Given the description of an element on the screen output the (x, y) to click on. 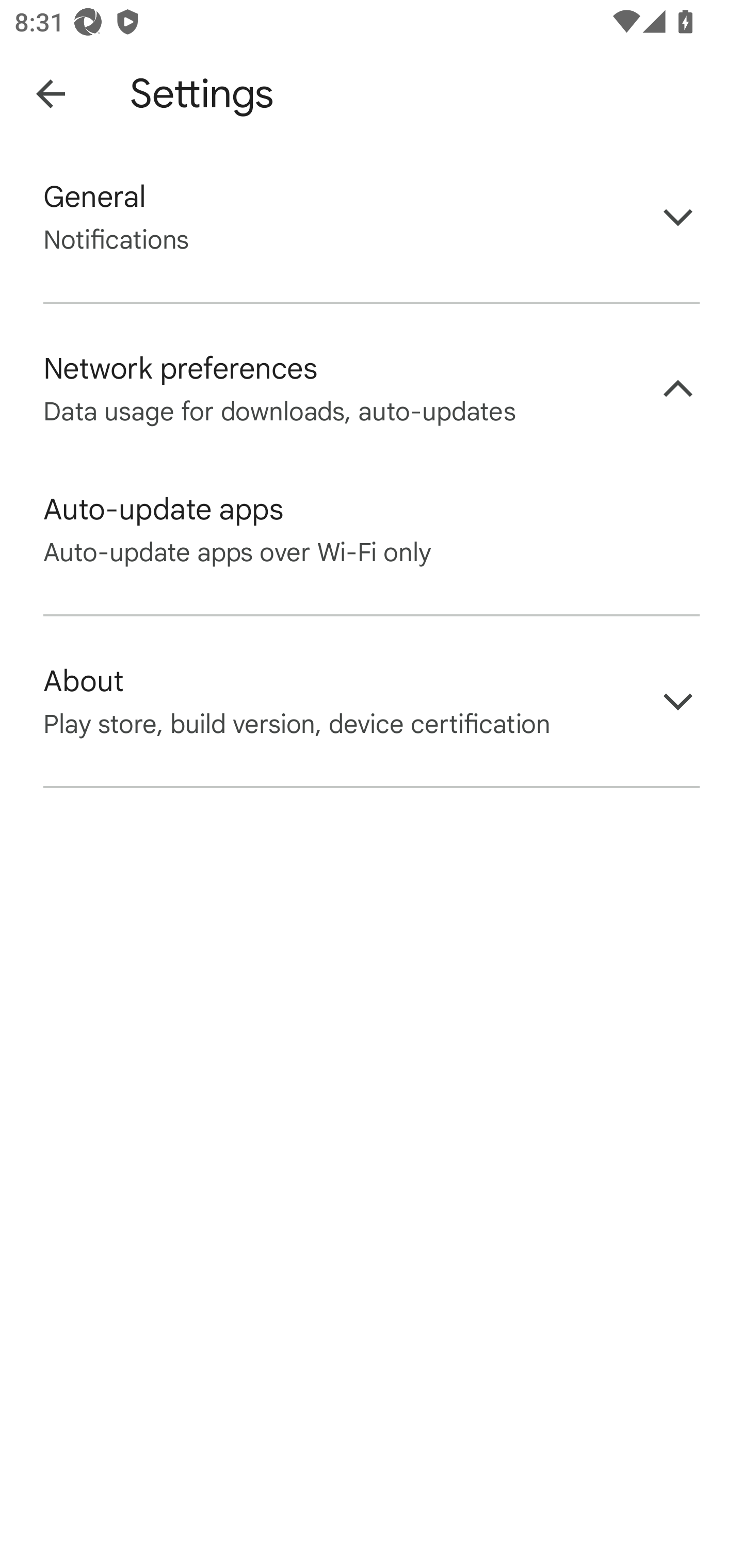
Navigate up (50, 93)
Auto-update apps Auto-update apps over Wi-Fi only (371, 529)
